Given the description of an element on the screen output the (x, y) to click on. 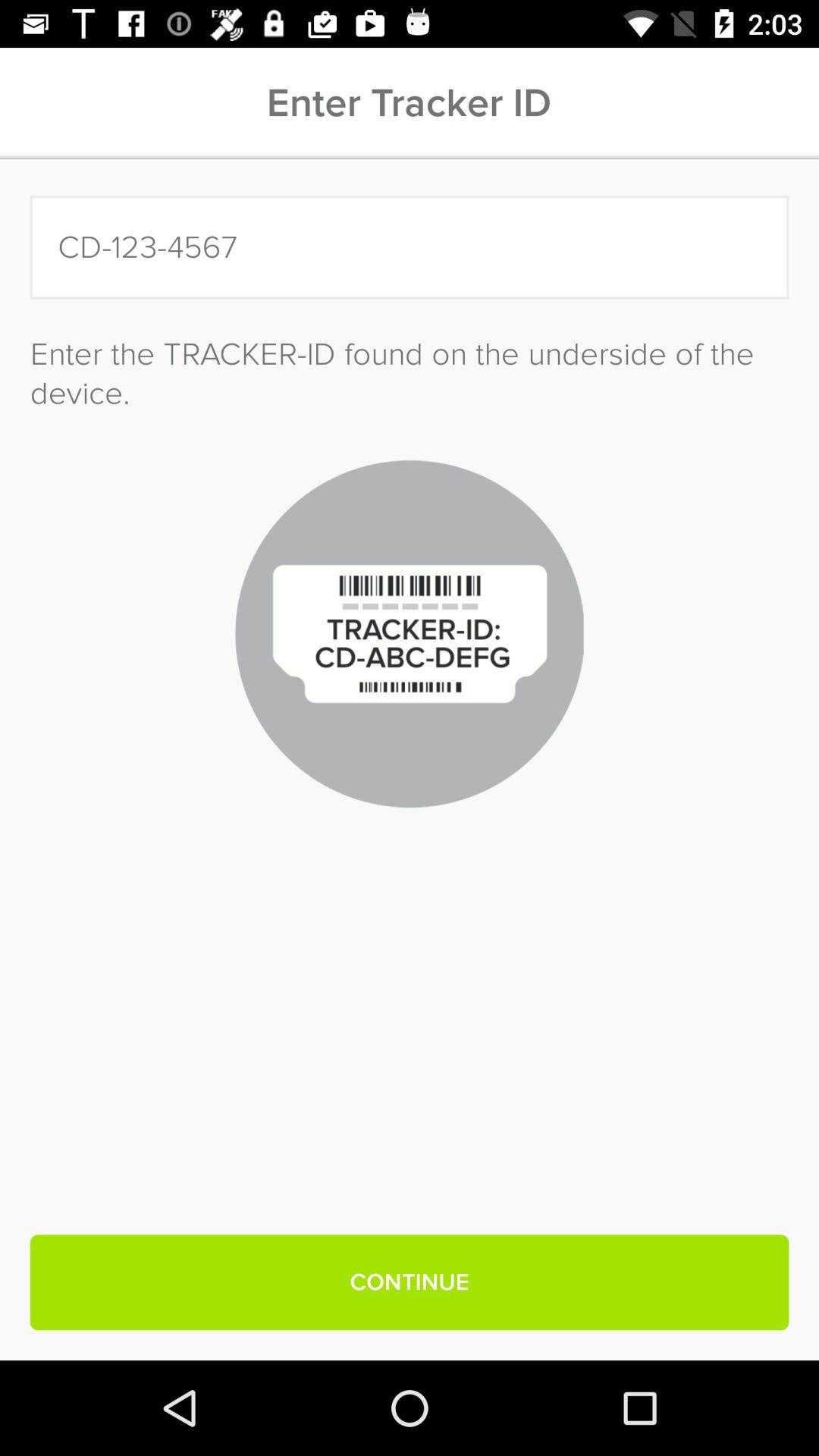
select text box (409, 247)
